Given the description of an element on the screen output the (x, y) to click on. 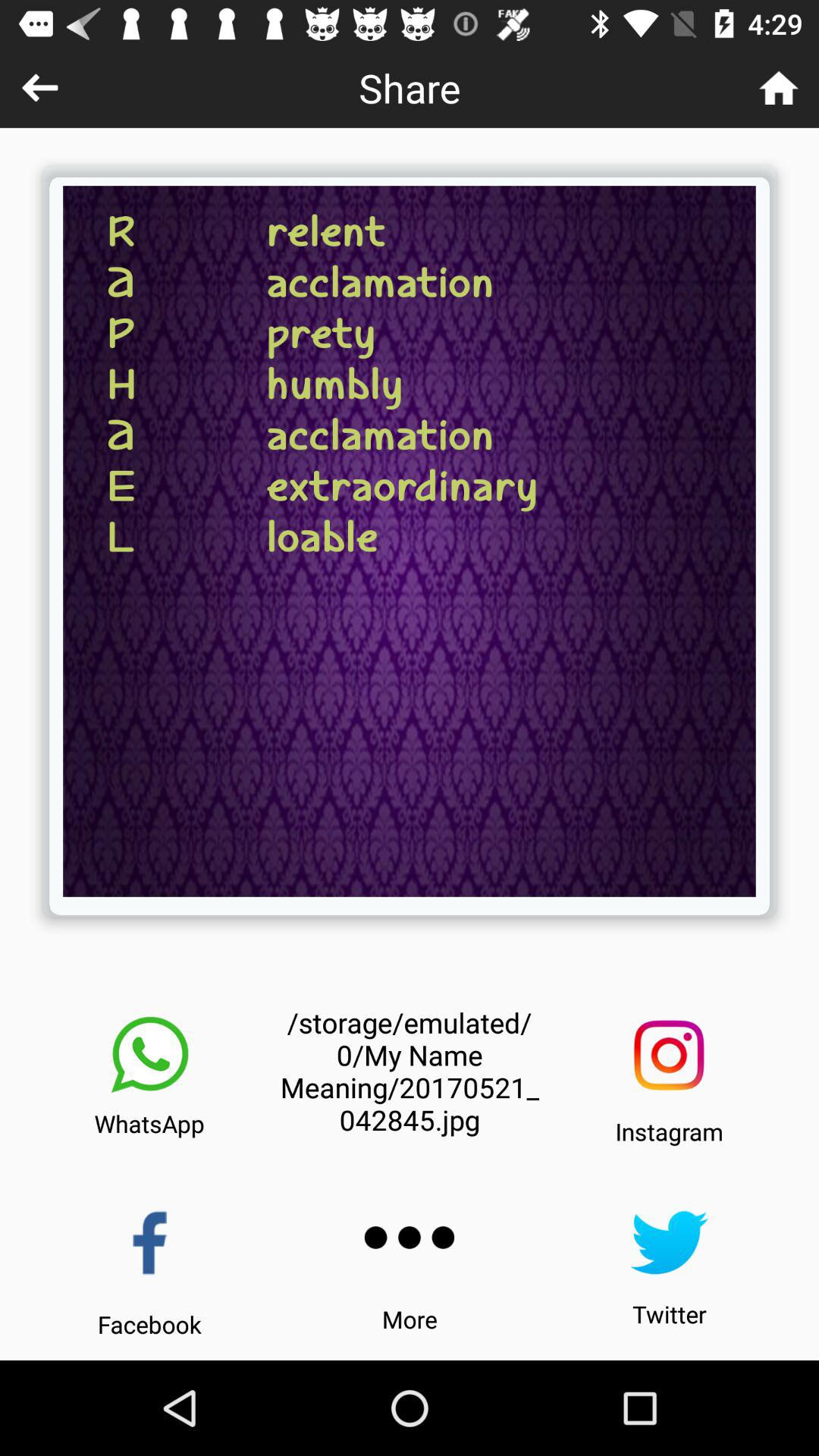
share to facebook (149, 1242)
